Given the description of an element on the screen output the (x, y) to click on. 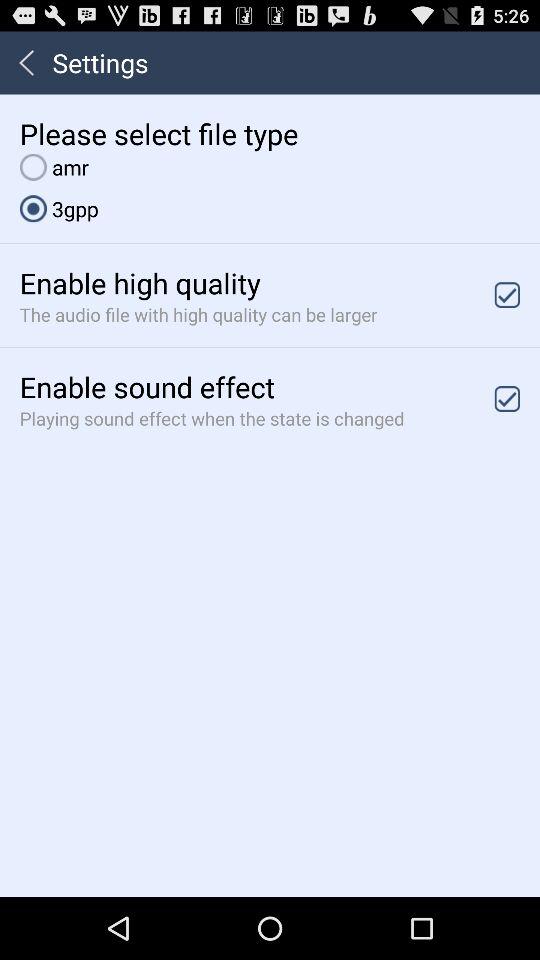
toggle enable high quality option (507, 294)
